Given the description of an element on the screen output the (x, y) to click on. 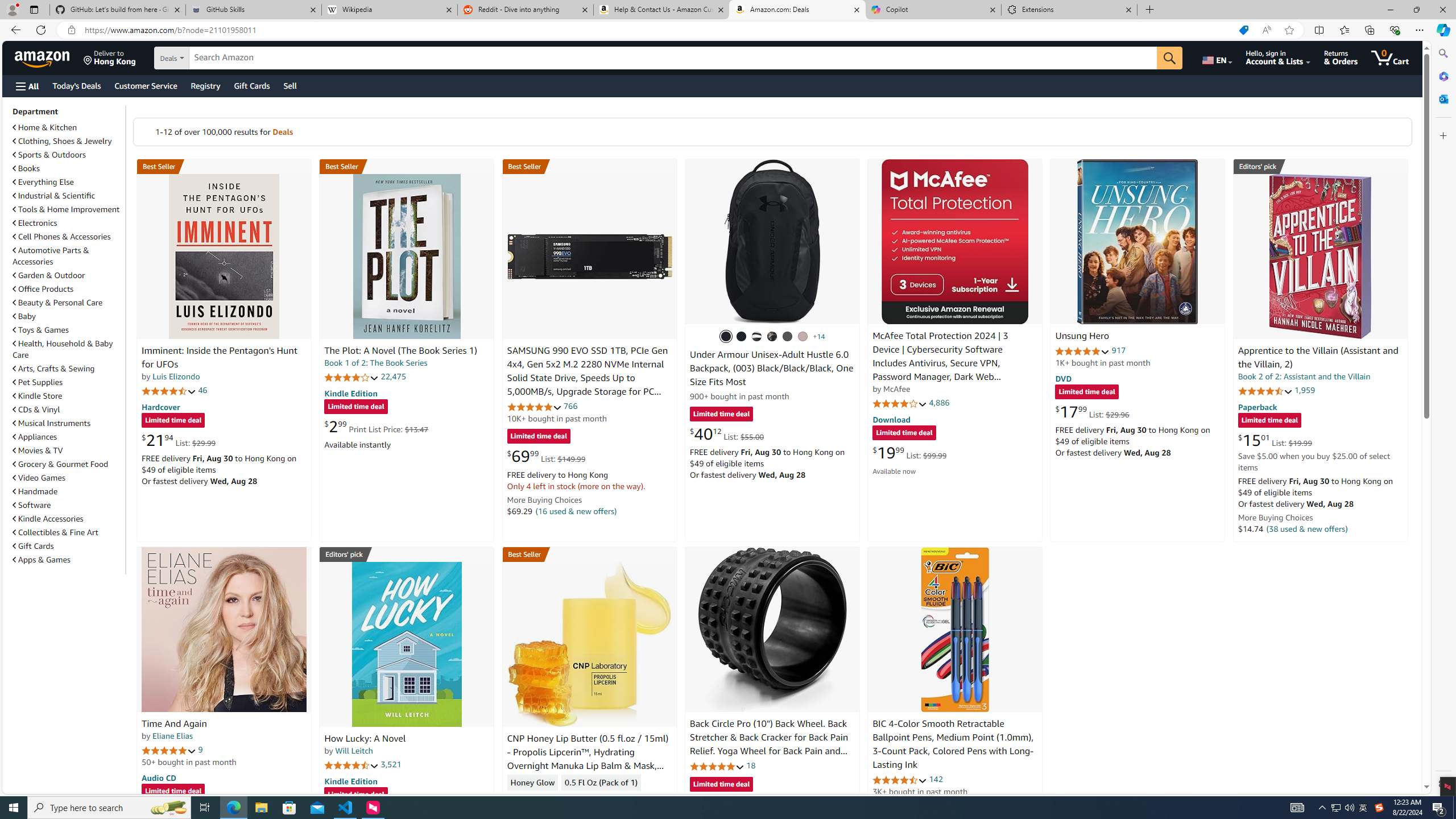
Eliane Elias (171, 735)
Hardcover (160, 406)
Apprentice to the Villain (Assistant and the Villain, 2) (1318, 358)
Video Games (39, 477)
Unsung Hero (1137, 241)
3,521 (390, 764)
$40.12 List: $55.00 (726, 433)
